Given the description of an element on the screen output the (x, y) to click on. 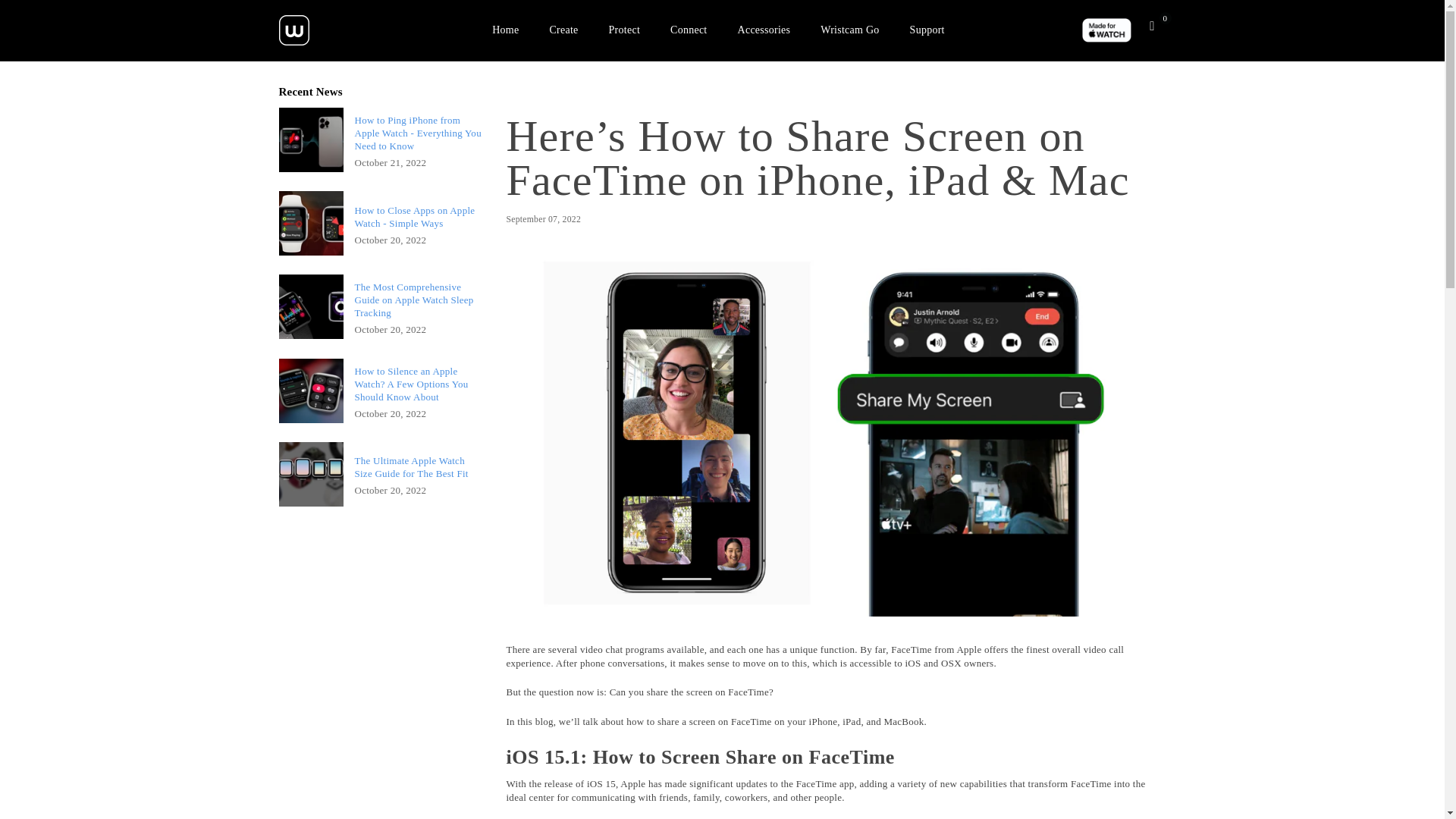
Cart (1152, 25)
Support (927, 29)
Wristcam (343, 30)
The Ultimate Apple Watch Size Guide for The Best Fit (419, 466)
Protect (623, 29)
0 (1152, 25)
The Most Comprehensive Guide on Apple Watch Sleep Tracking (419, 299)
Wristcam Go (849, 29)
How to Close Apps on Apple Watch - Simple Ways (419, 216)
